Given the description of an element on the screen output the (x, y) to click on. 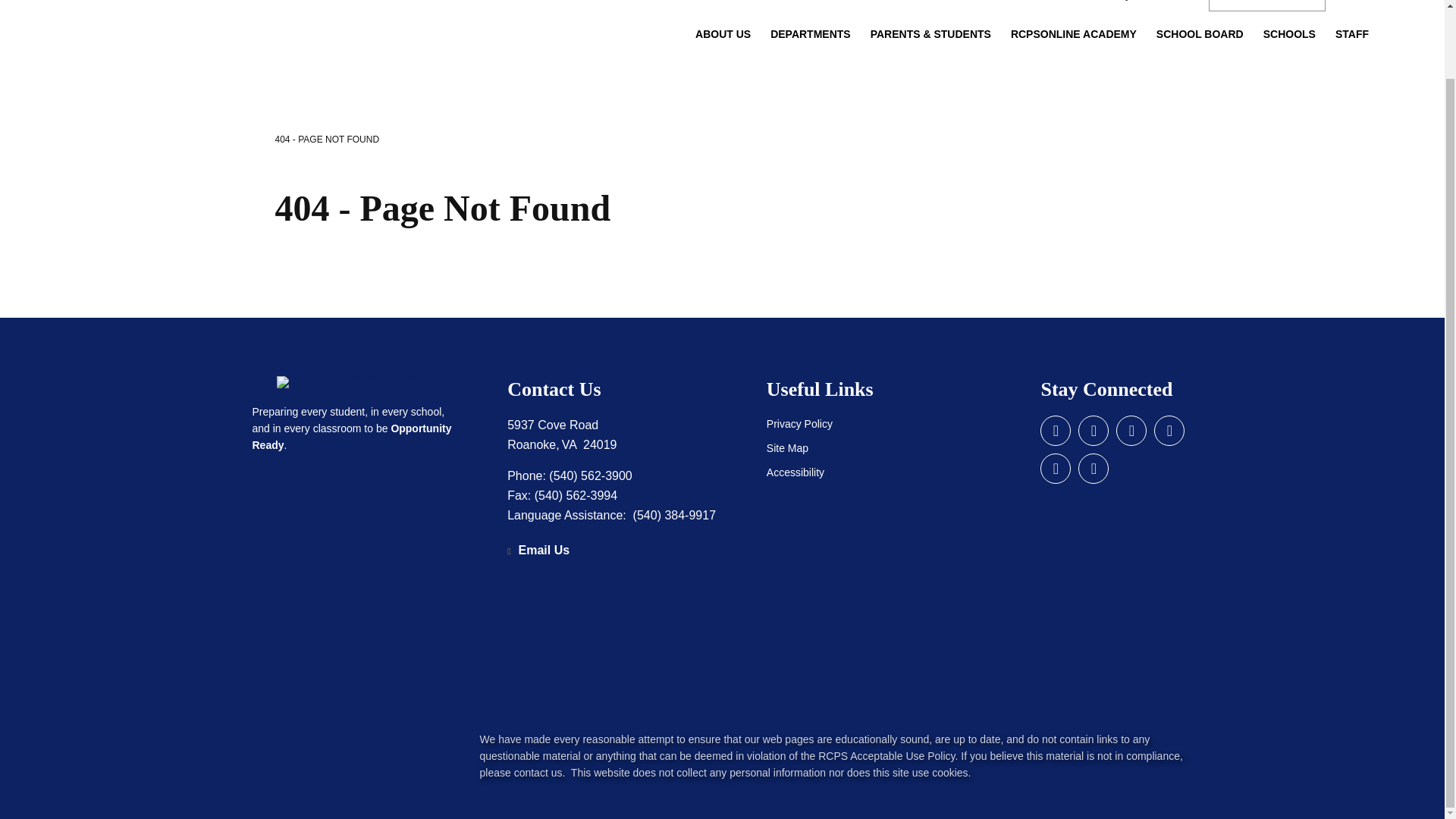
Powered by Finalsite opens in a new window (301, 762)
